Given the description of an element on the screen output the (x, y) to click on. 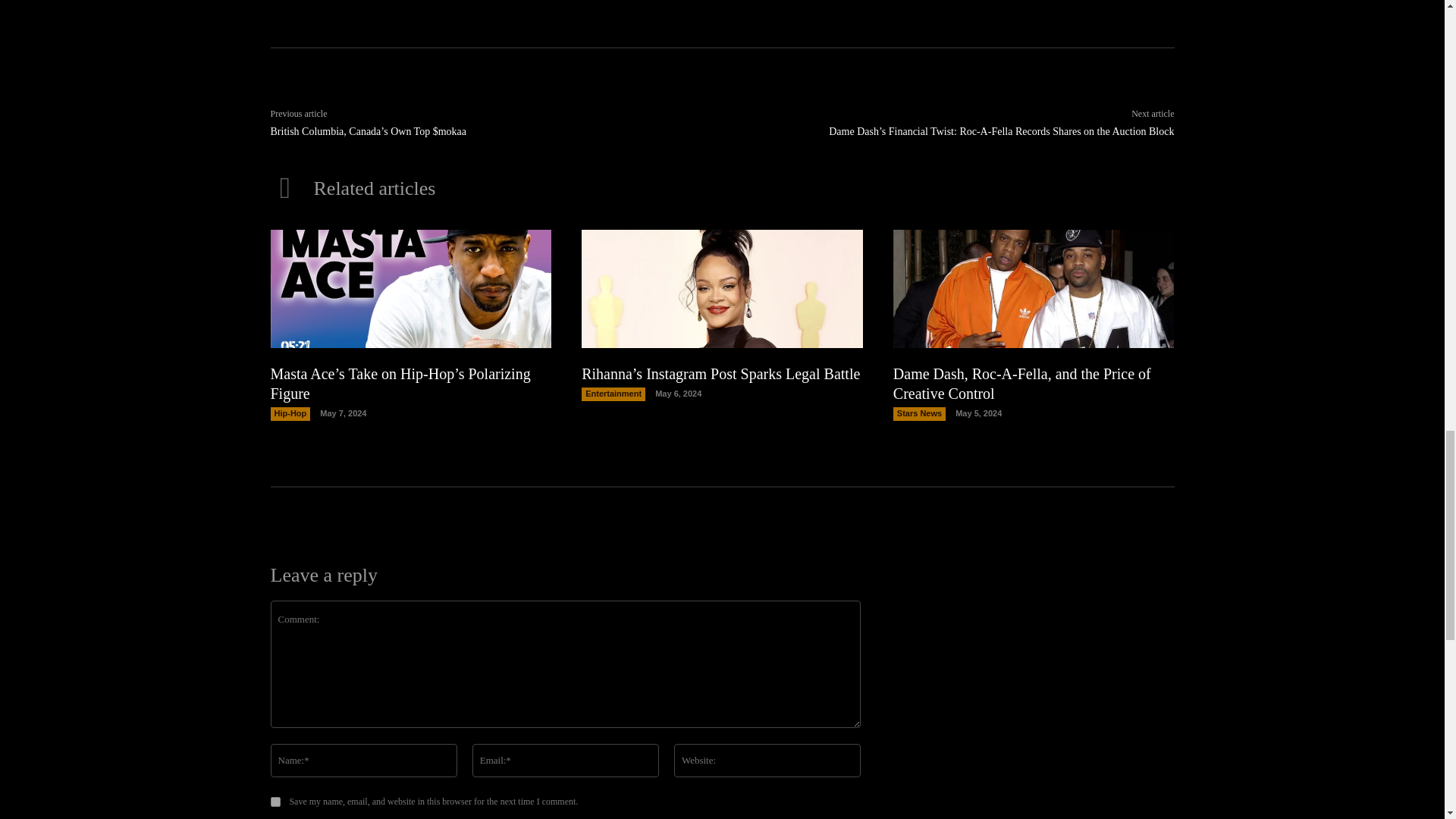
yes (274, 801)
